Given the description of an element on the screen output the (x, y) to click on. 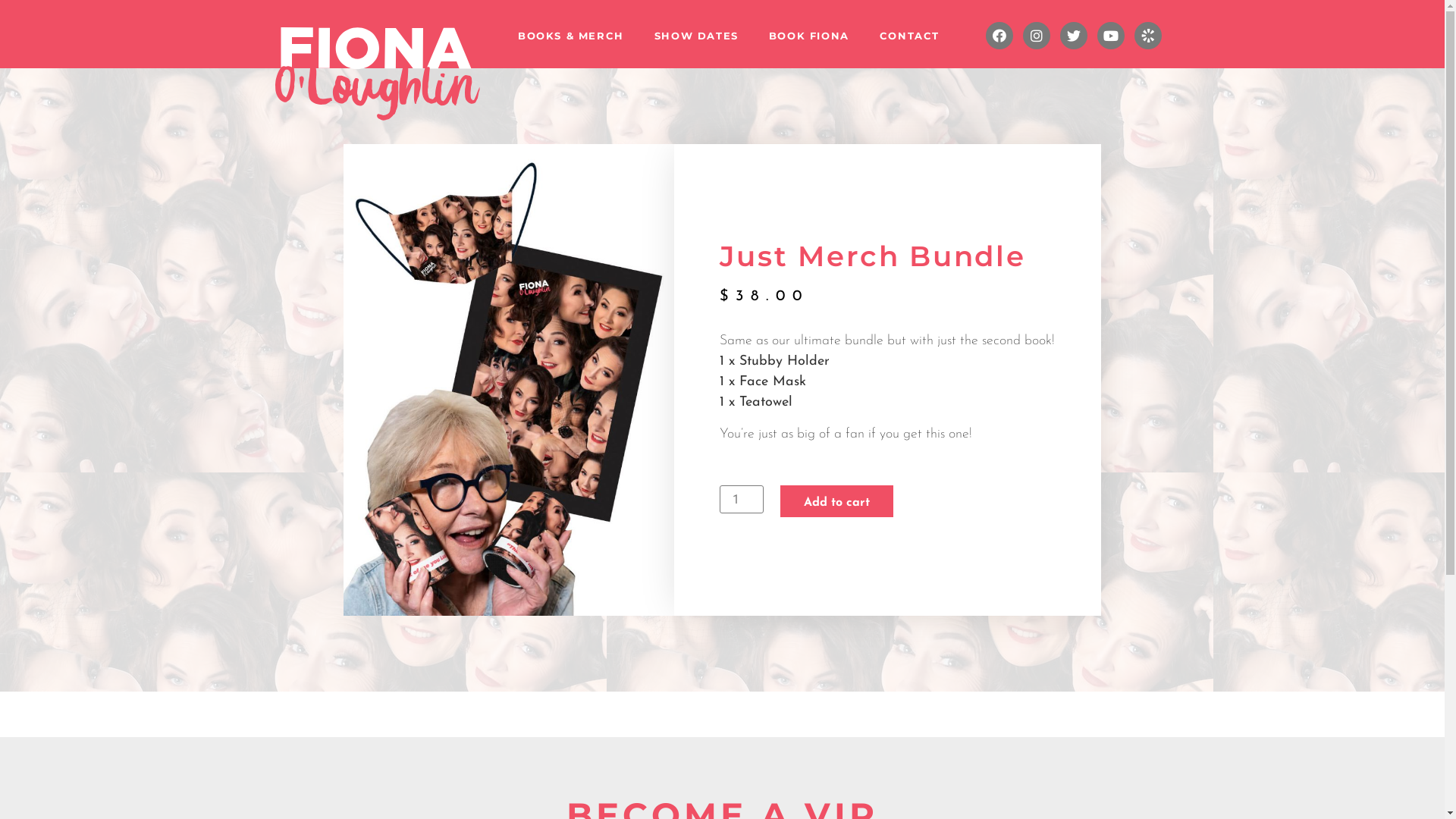
Qty Element type: hover (741, 499)
Add to cart Element type: text (836, 501)
BOOK FIONA Element type: text (808, 35)
SHOW DATES Element type: text (696, 35)
BOOKS & MERCH Element type: text (570, 35)
CONTACT Element type: text (909, 35)
